Given the description of an element on the screen output the (x, y) to click on. 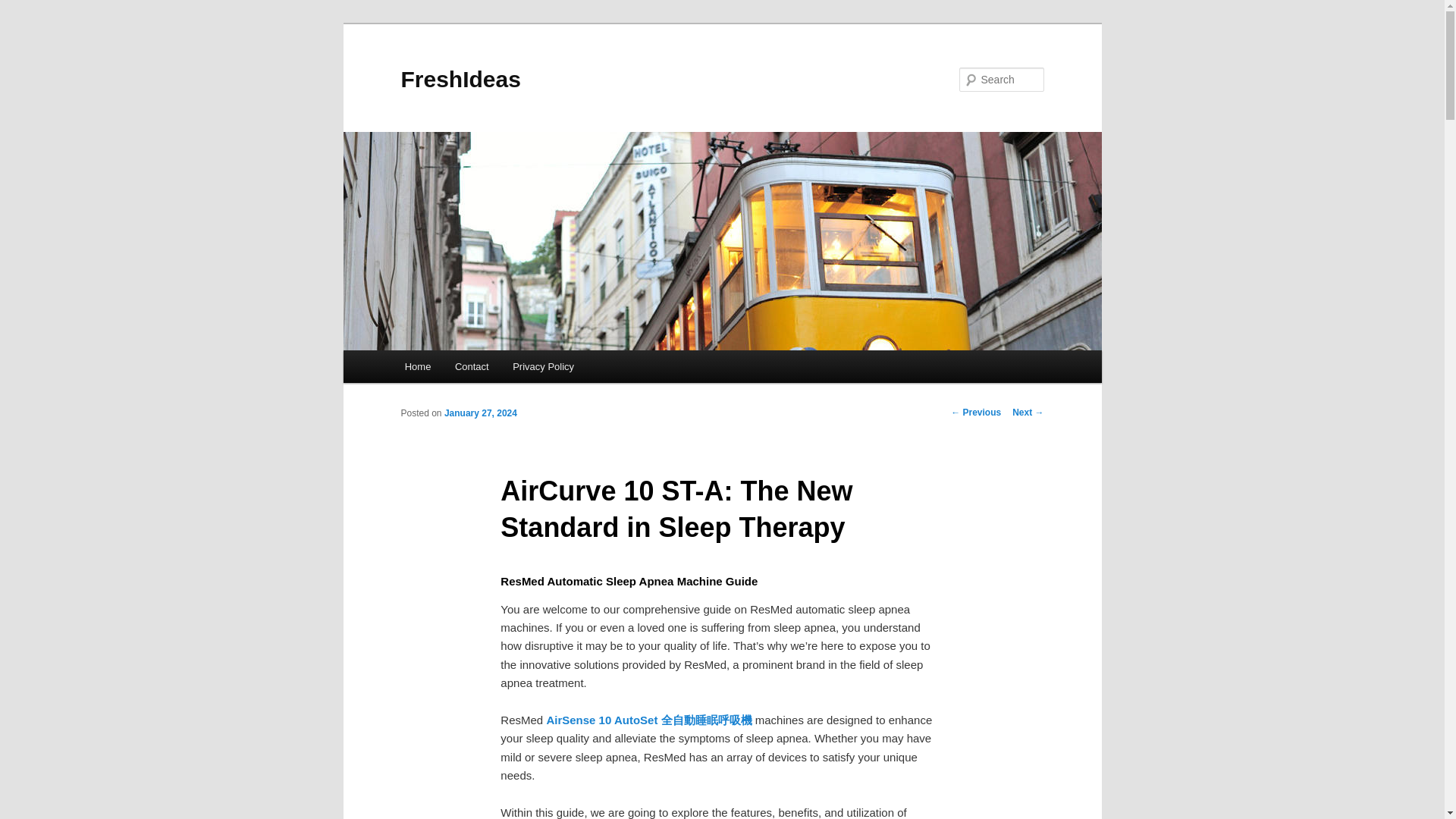
Contact (471, 366)
FreshIdeas (459, 78)
Home (417, 366)
Privacy Policy (542, 366)
Search (24, 8)
January 27, 2024 (480, 412)
11:08 pm (480, 412)
